Given the description of an element on the screen output the (x, y) to click on. 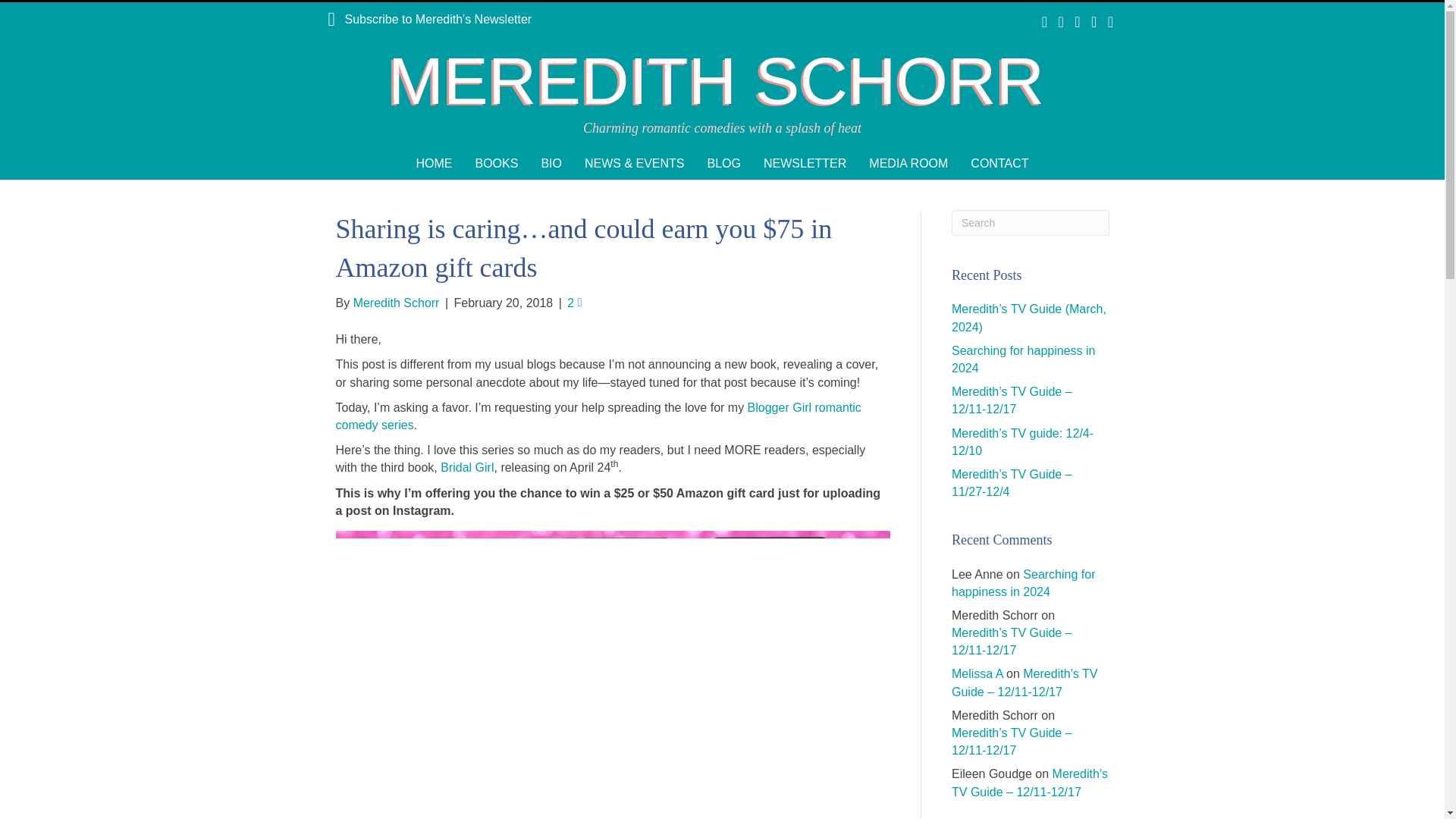
2 (573, 302)
Blogger Girl romantic comedy series (597, 416)
MEREDITH SCHORR (722, 81)
Bridal Girl (467, 467)
Type and press Enter to search. (1030, 222)
BOOKS (496, 163)
MEDIA ROOM (908, 163)
BIO (551, 163)
HOME (433, 163)
BLOG (723, 163)
